Given the description of an element on the screen output the (x, y) to click on. 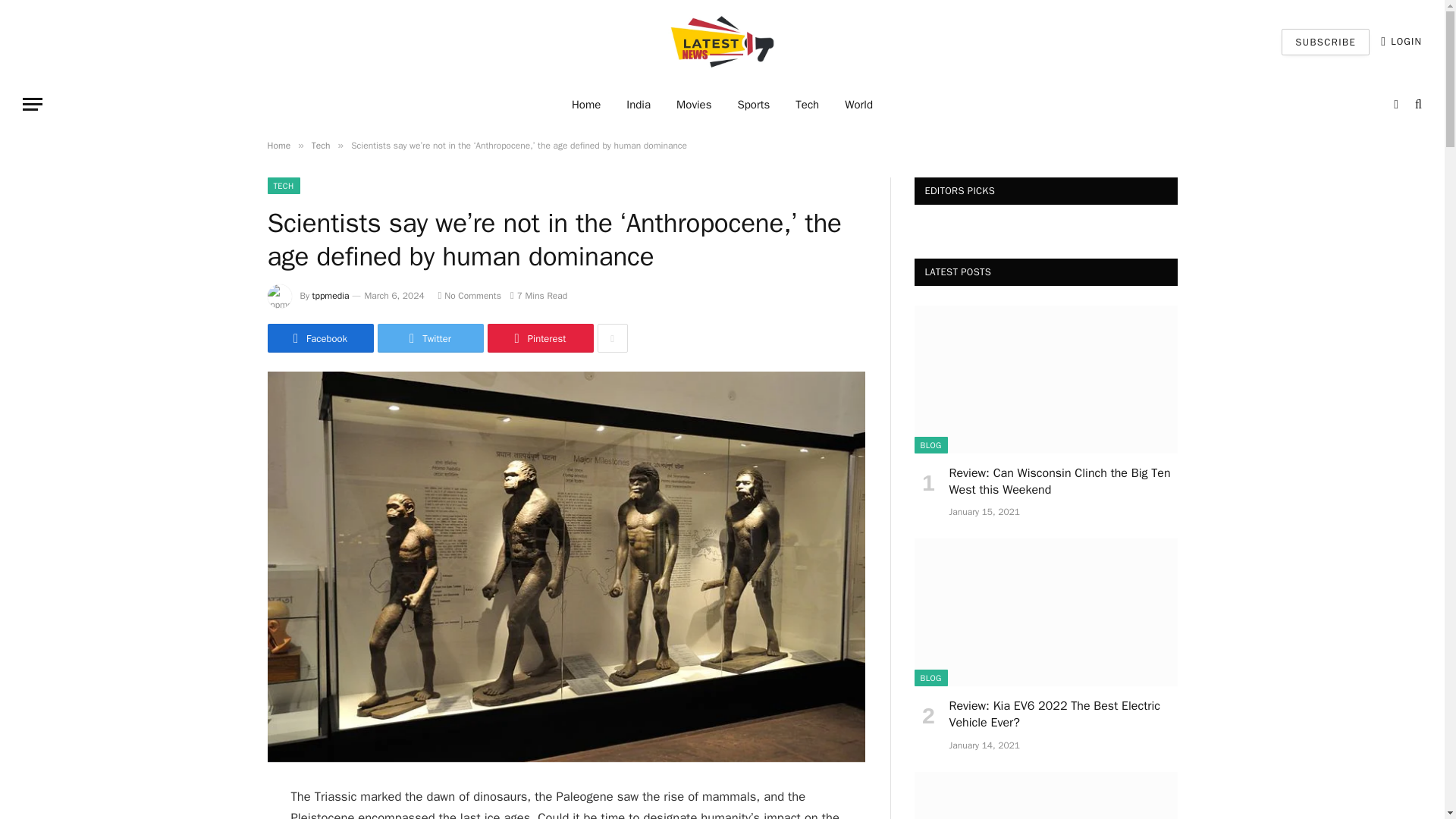
tppmedia (331, 295)
LOGIN (1401, 41)
No Comments (469, 295)
Tech (320, 145)
Pinterest (539, 337)
Share on Facebook (319, 337)
Posts by tppmedia (331, 295)
Movies (693, 104)
Twitter (430, 337)
World (858, 104)
Switch to Dark Design - easier on eyes. (1396, 104)
Facebook (319, 337)
Tech (807, 104)
All Latest News (722, 41)
Home (277, 145)
